Given the description of an element on the screen output the (x, y) to click on. 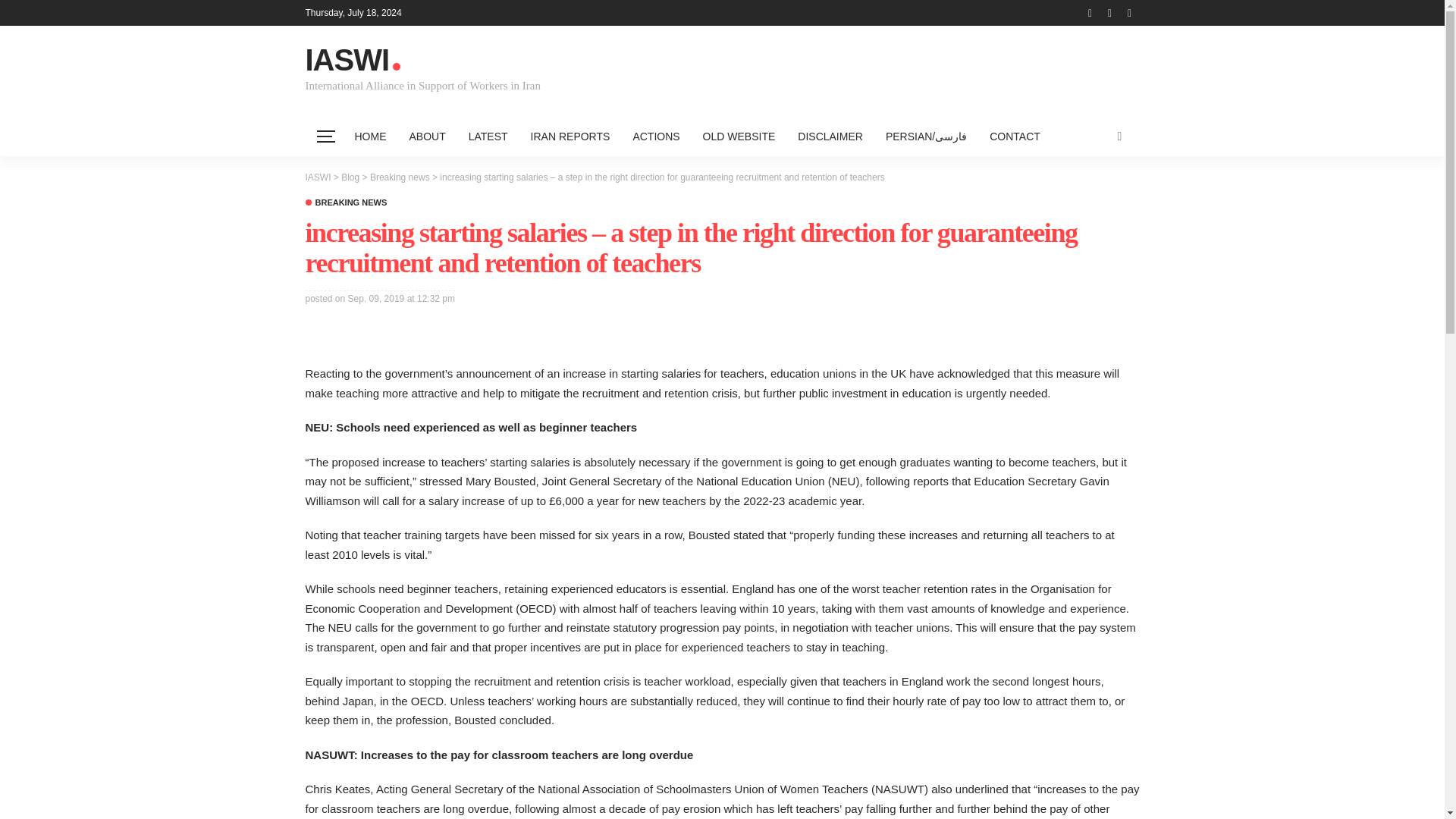
LATEST (488, 136)
IASWI (317, 176)
DISCLAIMER (830, 136)
Breaking news (399, 176)
OLD WEBSITE (739, 136)
Breaking news (345, 203)
HOME (369, 136)
CONTACT (1014, 136)
ACTIONS (655, 136)
Go to IASWI. (317, 176)
BREAKING NEWS (345, 203)
Blog (349, 176)
IRAN REPORTS (570, 136)
Go to Blog. (349, 176)
Go to the Breaking news Category archives. (399, 176)
